Given the description of an element on the screen output the (x, y) to click on. 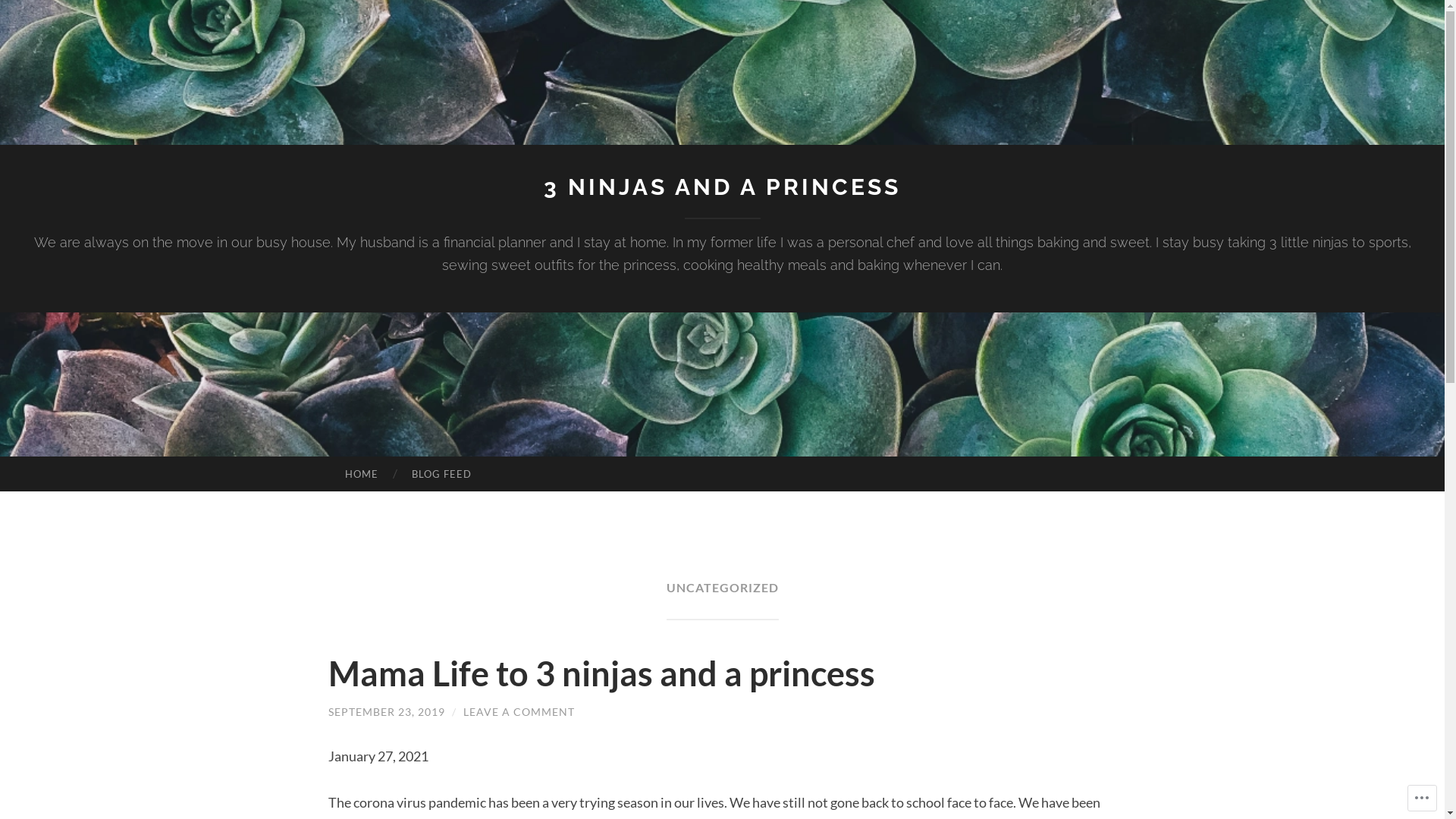
SEPTEMBER 23, 2019 Element type: text (385, 711)
BLOG FEED Element type: text (441, 473)
LEAVE A COMMENT Element type: text (518, 711)
Mama Life to 3 ninjas and a princess Element type: text (600, 672)
HOME Element type: text (360, 473)
3 NINJAS AND A PRINCESS Element type: text (721, 186)
